Given the description of an element on the screen output the (x, y) to click on. 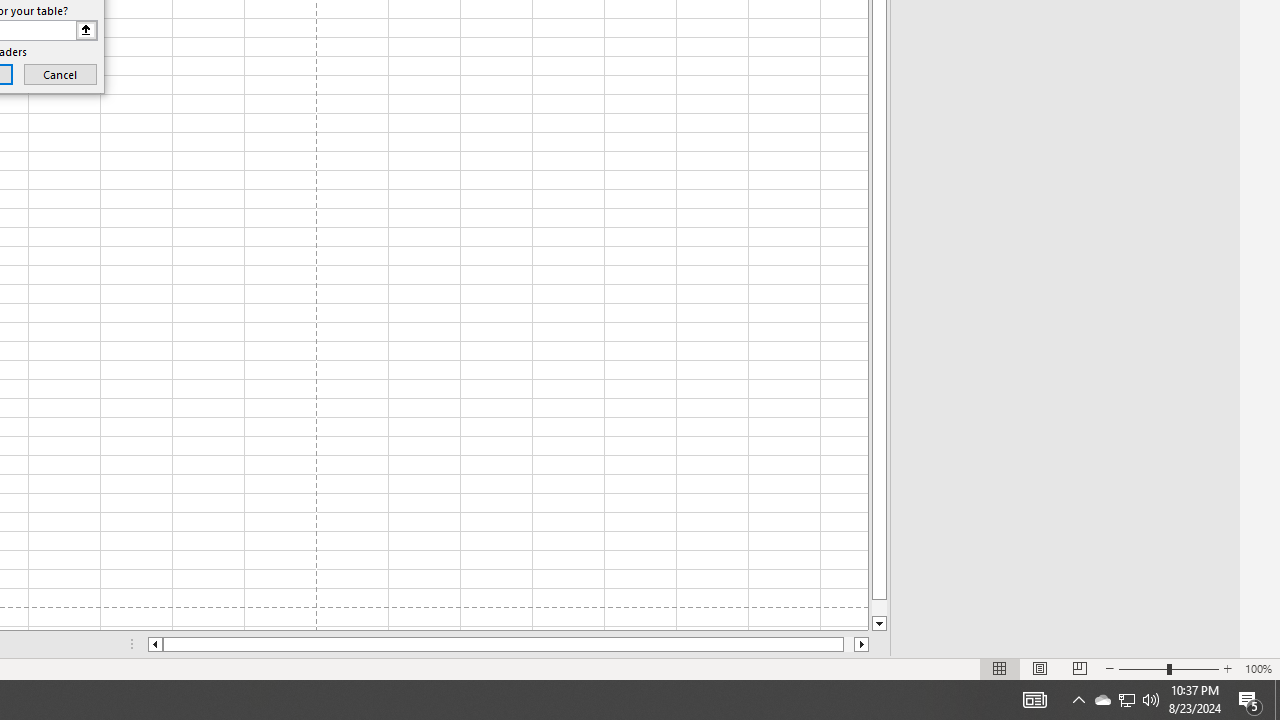
Page down (879, 607)
